Given the description of an element on the screen output the (x, y) to click on. 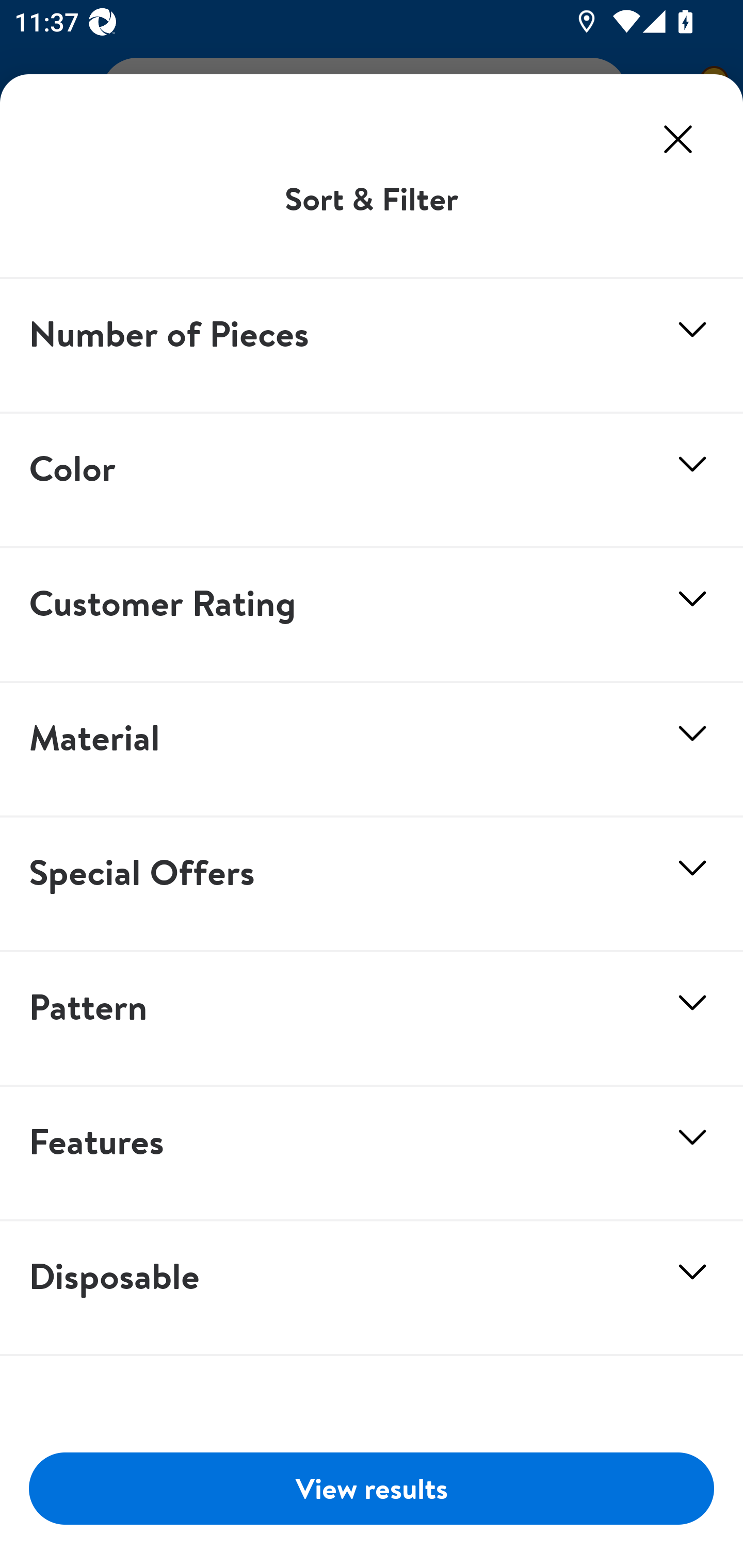
Close (677, 139)
Color Color Collapsed Collapsed (371, 480)
Material Material Collapsed Collapsed (371, 749)
Special Offers Special Offers Collapsed Collapsed (371, 883)
Pattern Pattern Collapsed Collapsed (371, 1018)
Features Features Collapsed Collapsed (371, 1153)
Disposable Disposable Collapsed Collapsed (371, 1288)
View results (371, 1487)
